Given the description of an element on the screen output the (x, y) to click on. 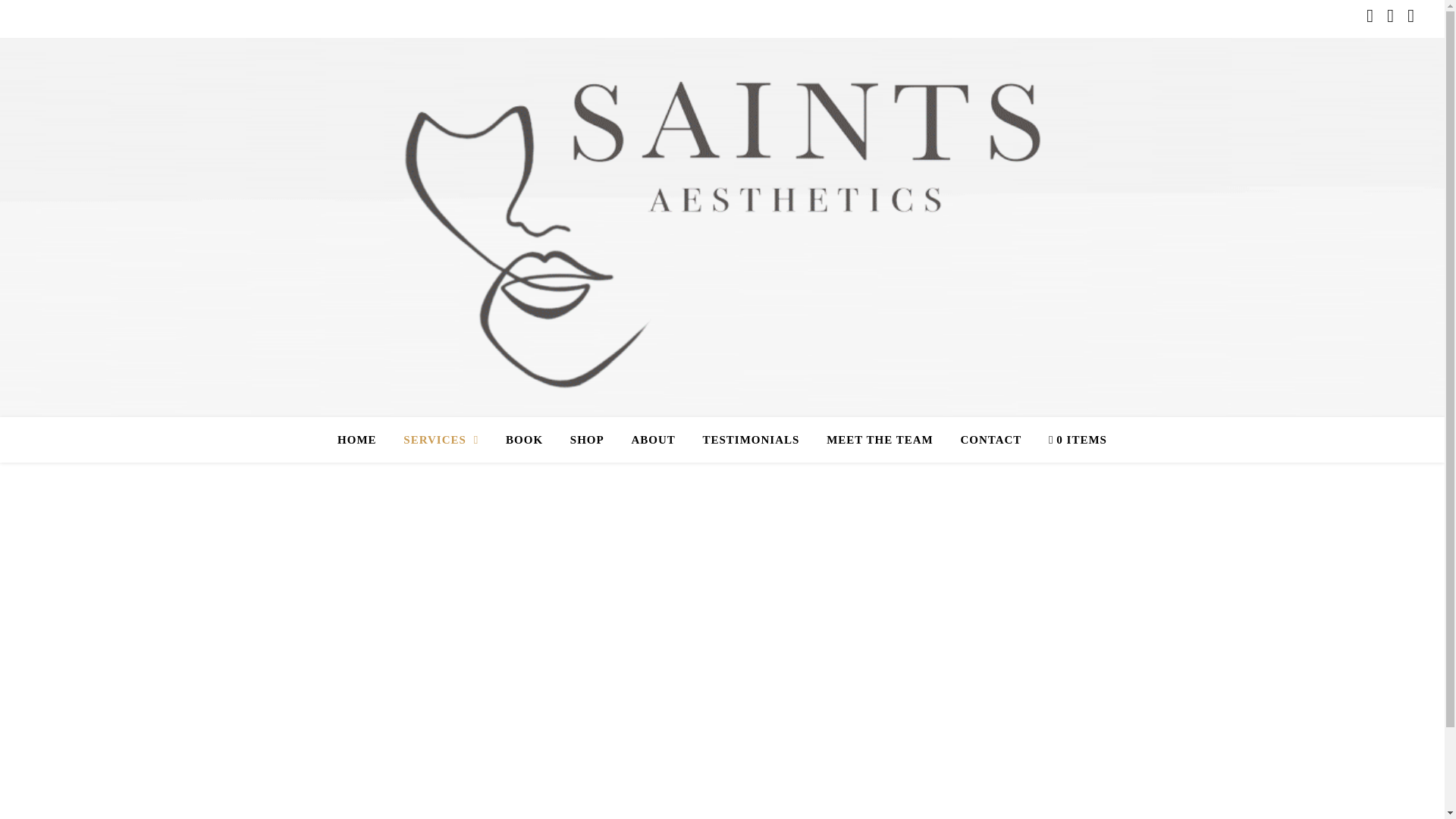
HOME (362, 439)
Start shopping (1071, 439)
SERVICES (440, 439)
